Given the description of an element on the screen output the (x, y) to click on. 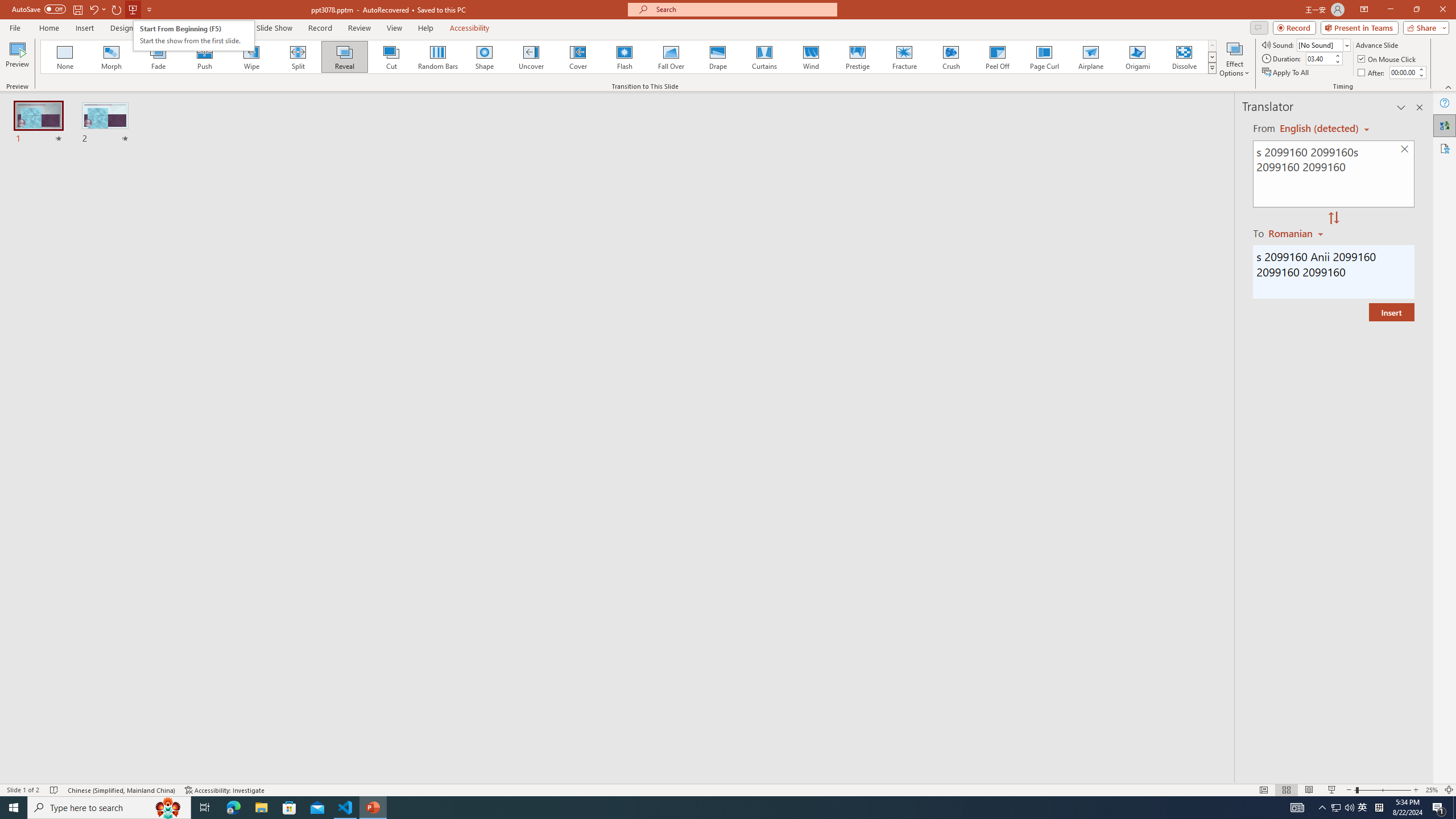
Airplane (1090, 56)
Sound (1324, 44)
Effect Options (1234, 58)
AutomationID: AnimationTransitionGallery (628, 56)
On Mouse Click (1387, 58)
Page Curl (1043, 56)
